Given the description of an element on the screen output the (x, y) to click on. 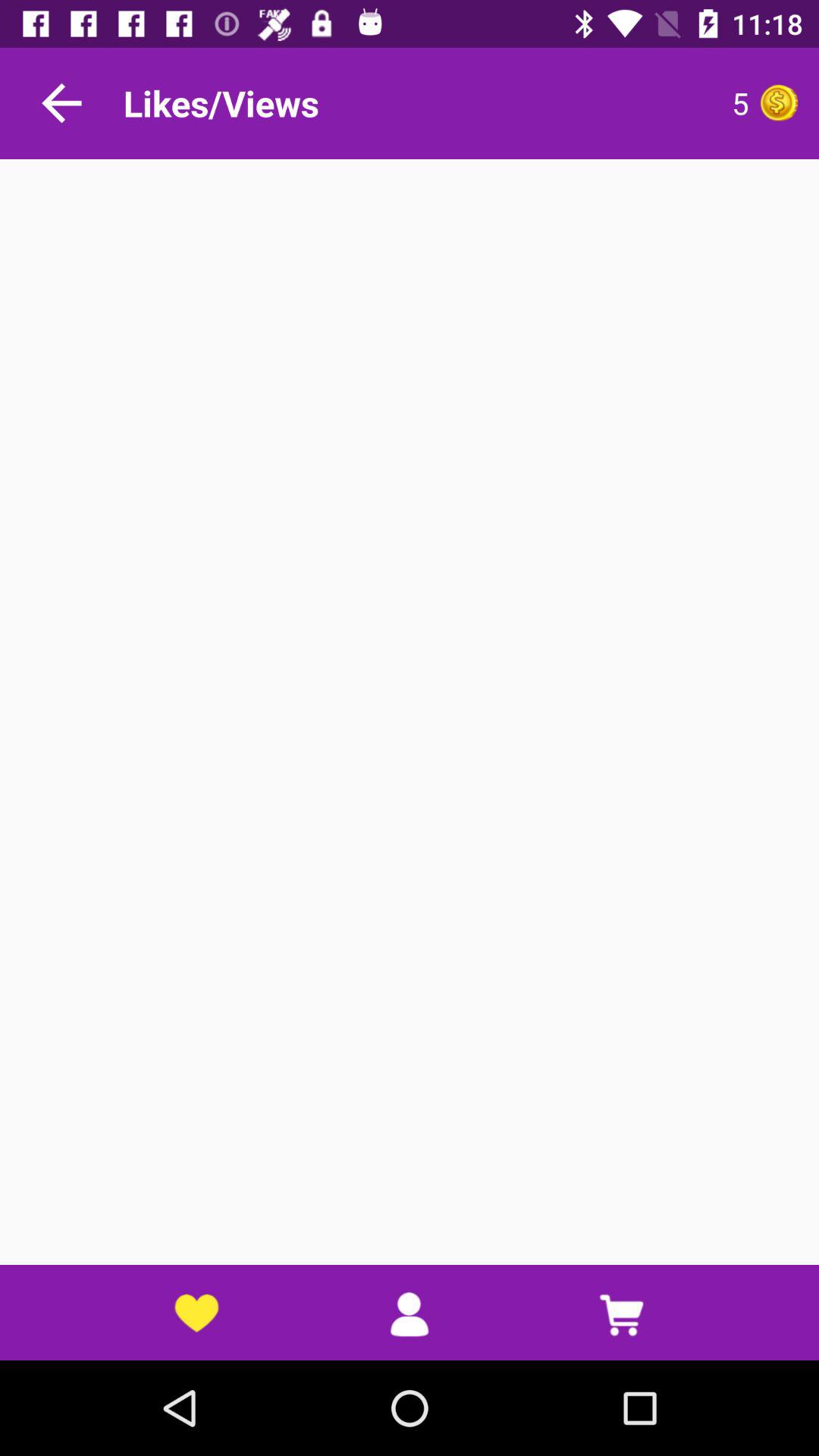
turn on item to the right of likes/views item (603, 102)
